Given the description of an element on the screen output the (x, y) to click on. 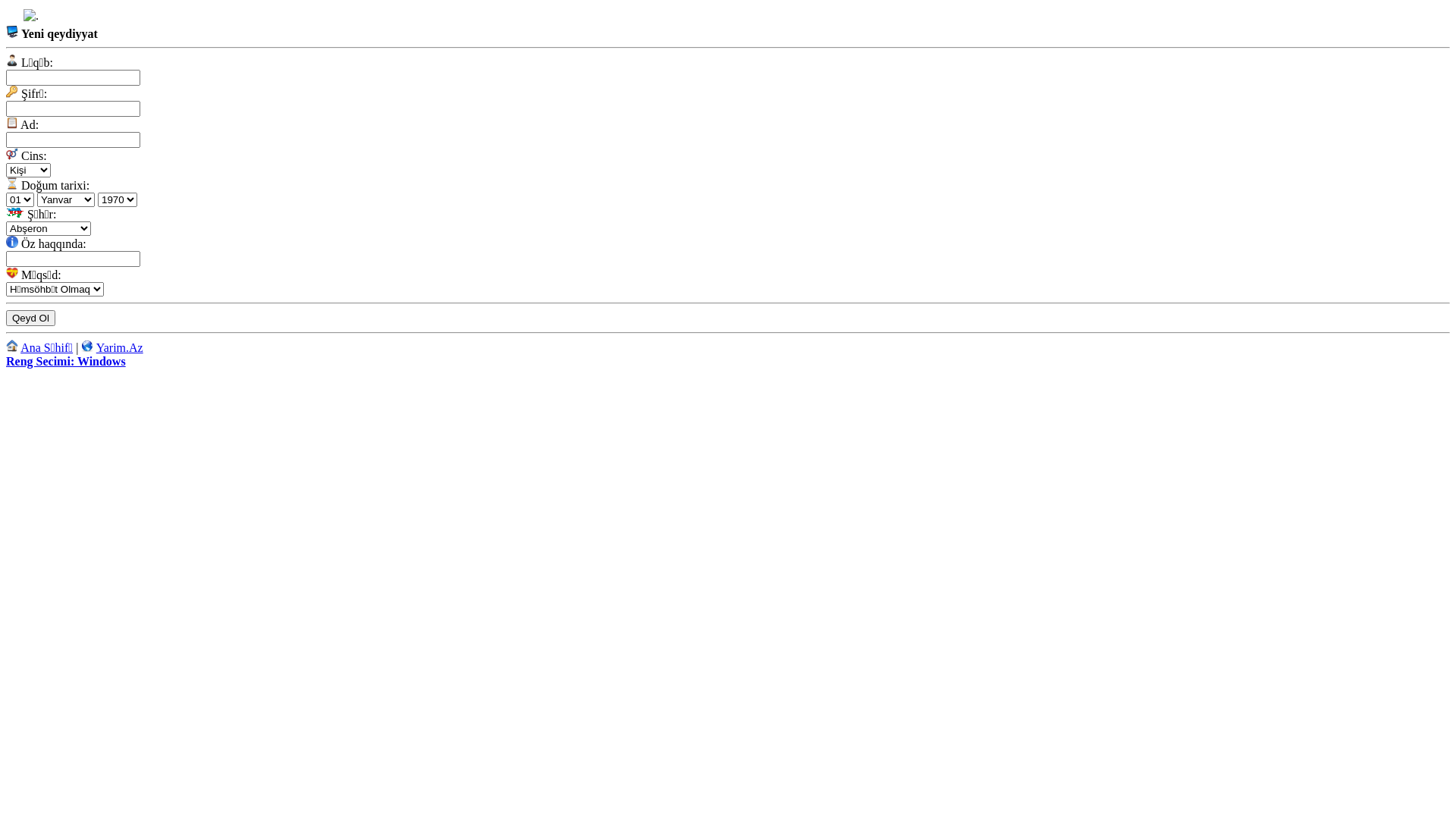
Yarim.Az Element type: text (119, 347)
Bildirisler Element type: hover (47, 15)
Qeyd Ol Element type: text (30, 318)
Mesajlar Element type: hover (30, 15)
Reng Secimi: Windows Element type: text (65, 360)
Qonaqlar Element type: hover (62, 15)
